Given the description of an element on the screen output the (x, y) to click on. 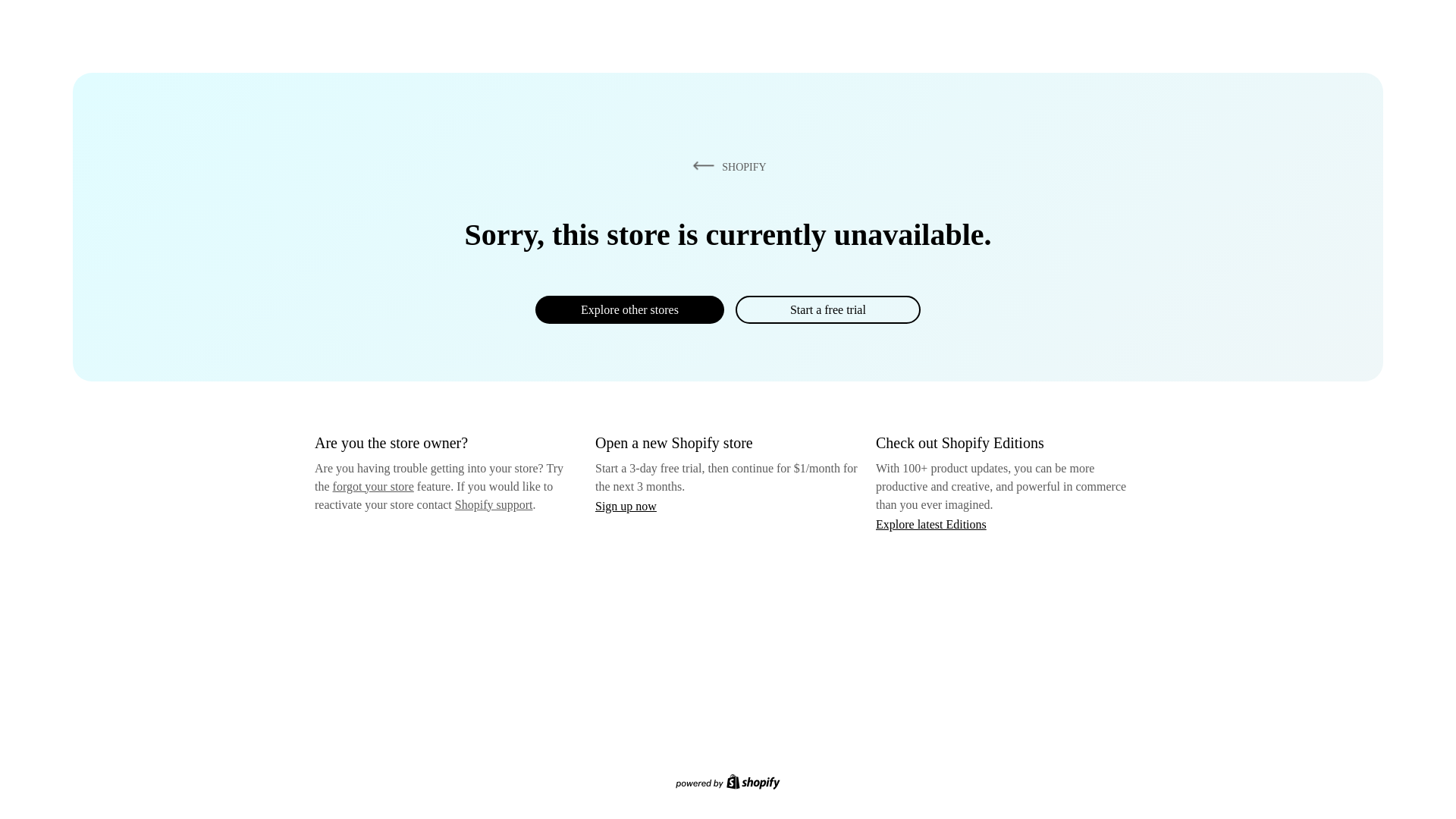
SHOPIFY (726, 166)
Shopify support (493, 504)
Start a free trial (827, 309)
Explore latest Editions (931, 523)
forgot your store (373, 486)
Explore other stores (629, 309)
Sign up now (625, 505)
